Given the description of an element on the screen output the (x, y) to click on. 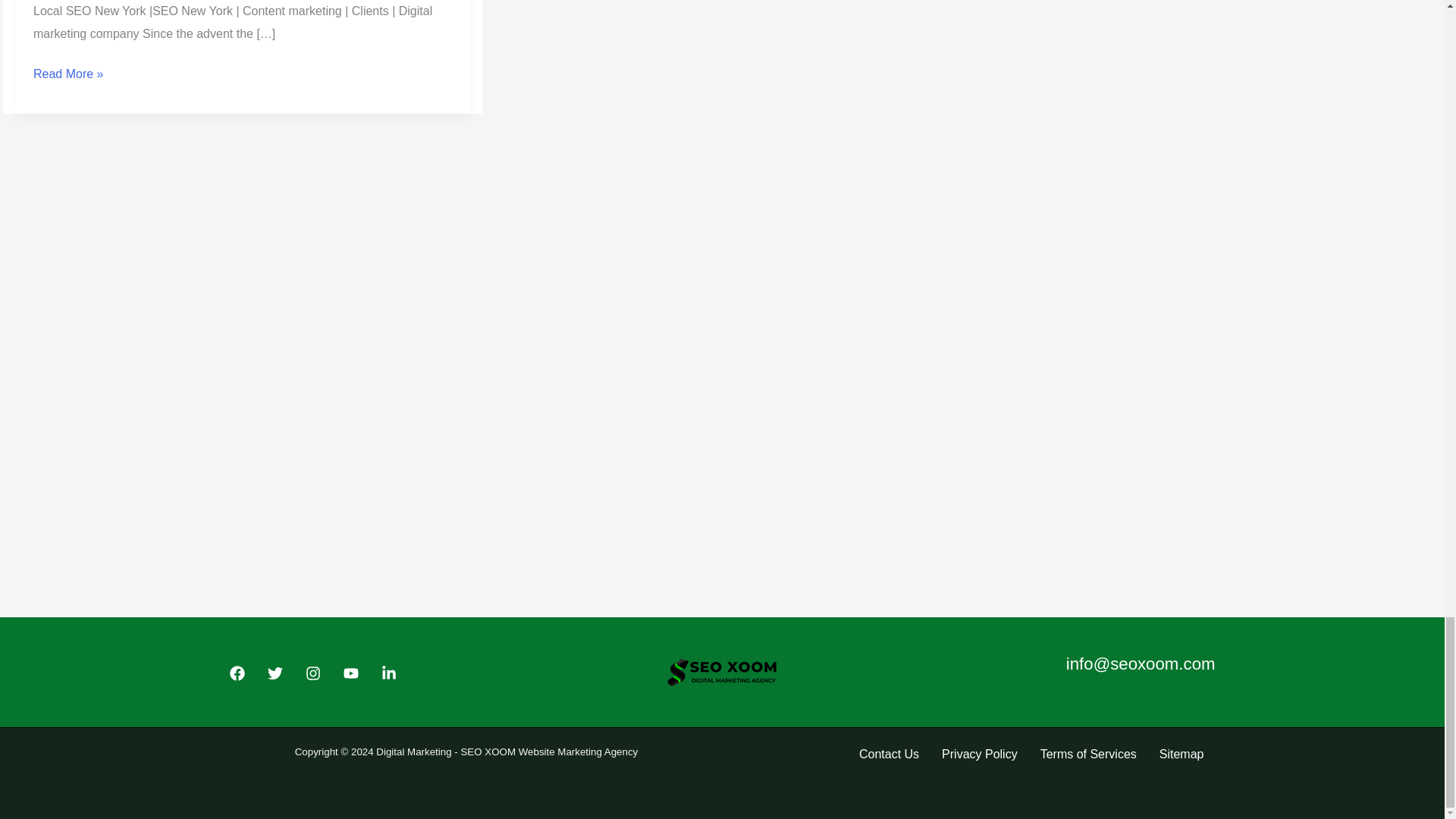
Terms of Services (1088, 753)
Contact Us (888, 753)
Sitemap (1181, 753)
Privacy Policy (979, 753)
